Given the description of an element on the screen output the (x, y) to click on. 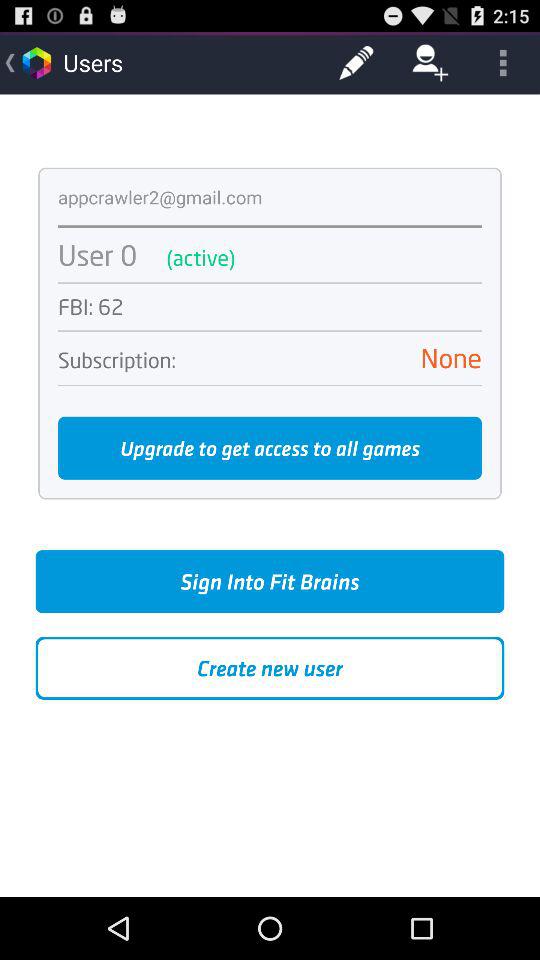
choose create new user at the bottom (269, 667)
